Given the description of an element on the screen output the (x, y) to click on. 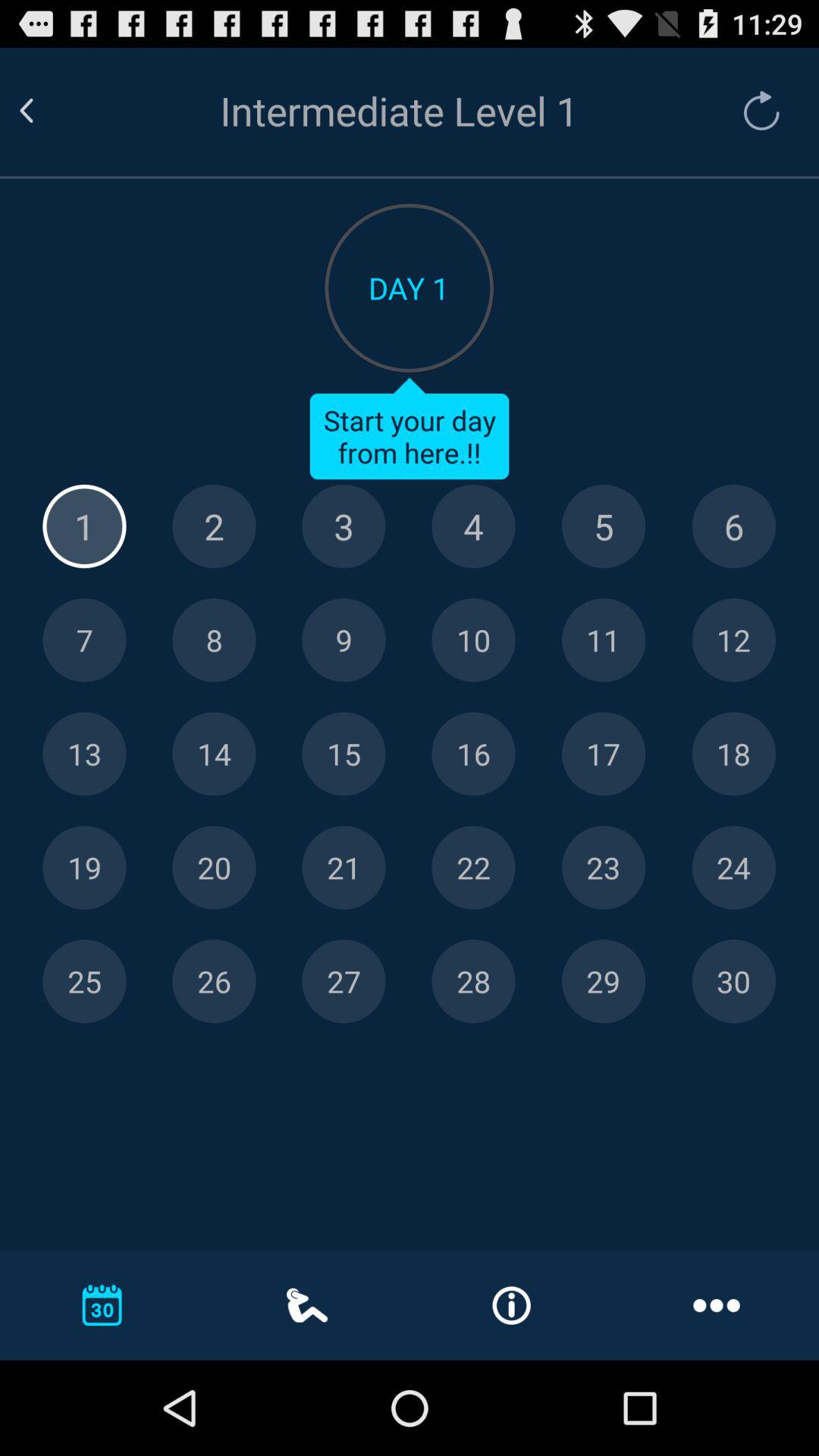
press number 3 (343, 526)
